Given the description of an element on the screen output the (x, y) to click on. 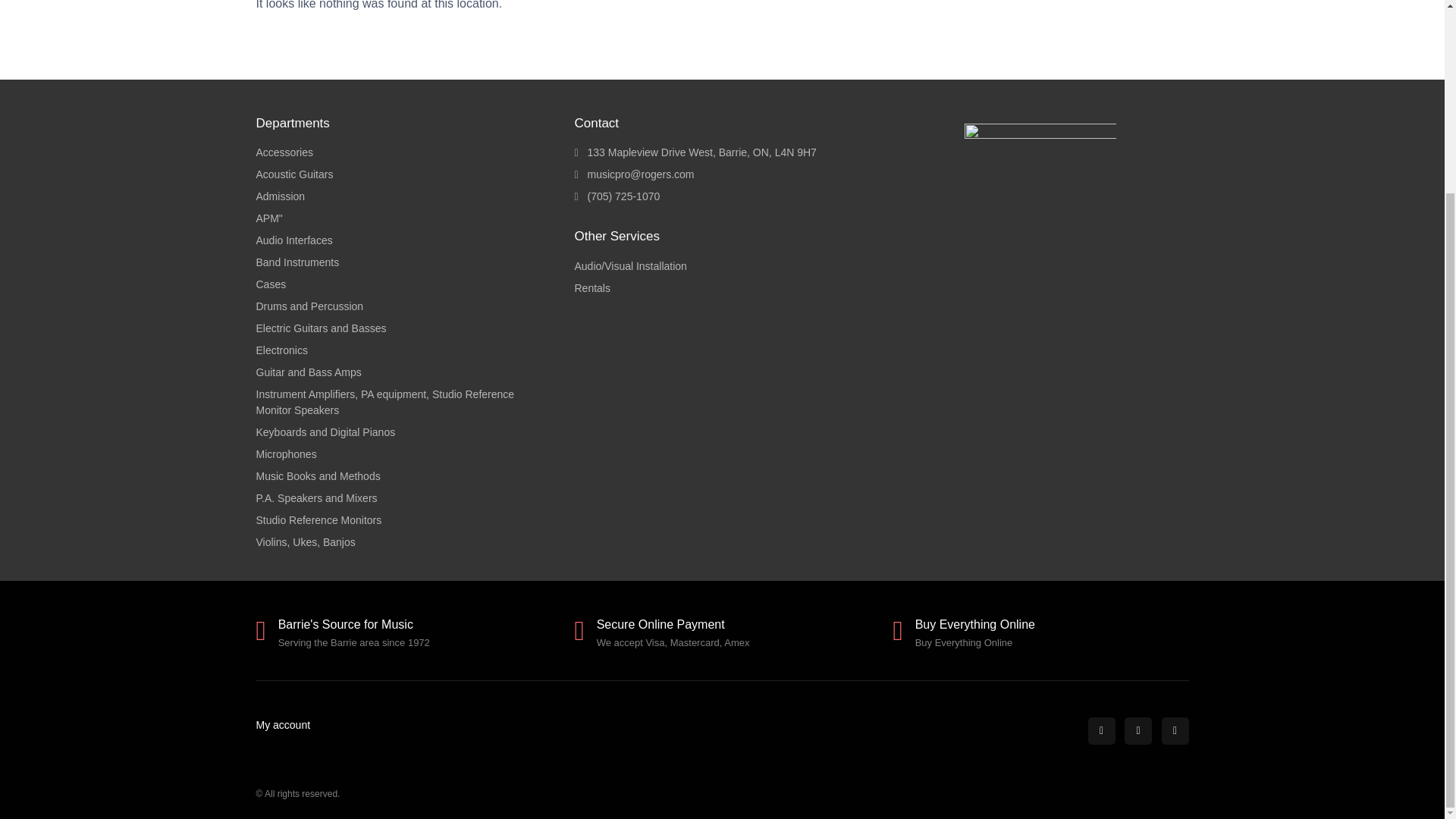
Email Us (721, 174)
Guitar and Bass Amps (403, 372)
Electric Guitars and Basses (403, 328)
Drums and Percussion (403, 306)
Band Instruments (403, 262)
Cases (403, 284)
Acoustic Guitars (403, 174)
APM" (403, 218)
Admission (403, 196)
Call Us (721, 196)
Accessories (403, 152)
Audio Interfaces (403, 240)
Electronics (403, 350)
